Given the description of an element on the screen output the (x, y) to click on. 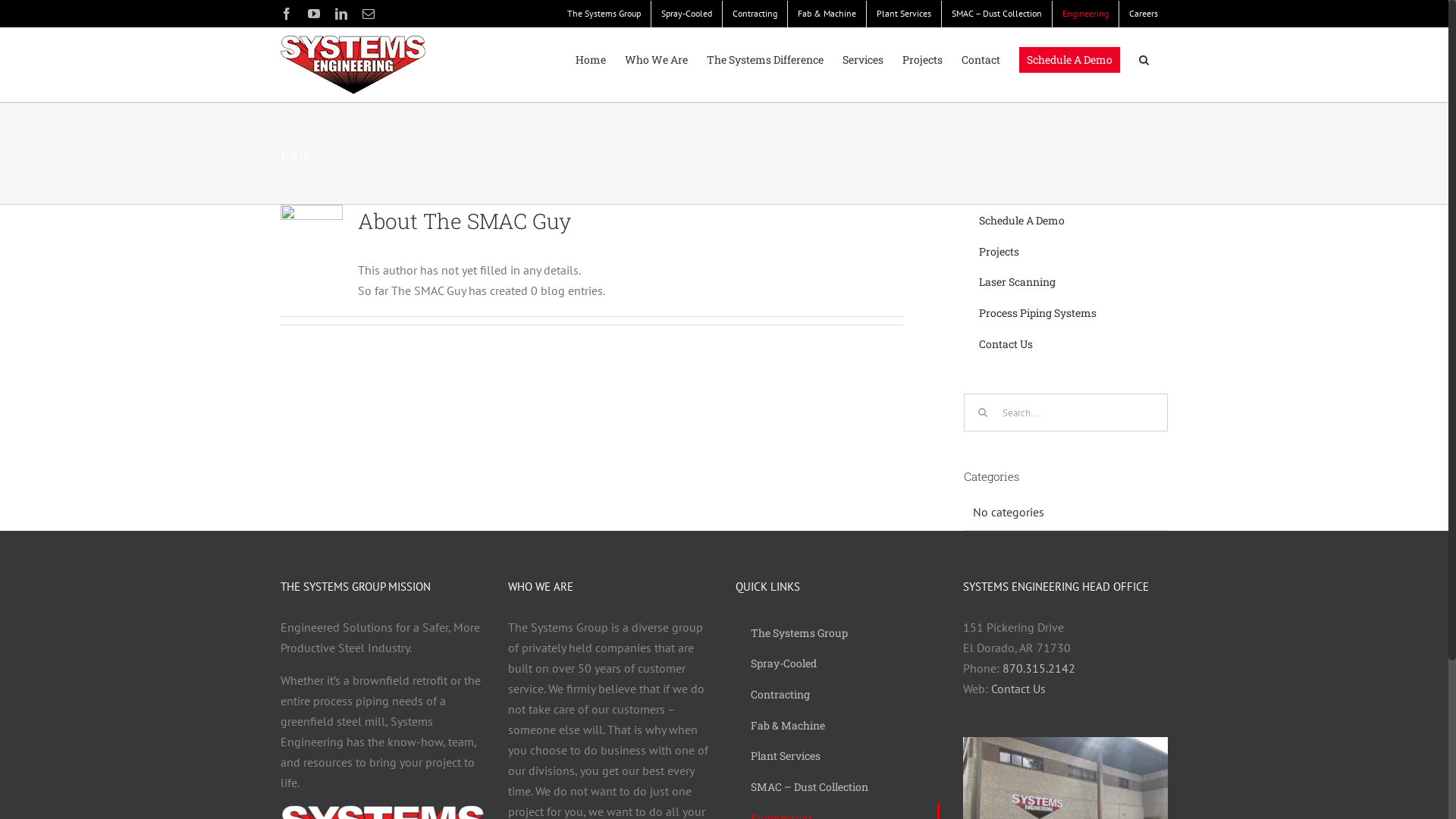
The Systems Difference Element type: text (764, 59)
Projects Element type: text (1065, 251)
Laser Scanning Element type: text (1065, 282)
Contact Us Element type: text (1018, 688)
Plant Services Element type: text (903, 13)
Email Element type: text (368, 13)
LinkedIn Element type: text (341, 13)
Search Element type: hover (1143, 59)
Contact Us Element type: text (1065, 344)
YouTube Element type: text (313, 13)
Services Element type: text (862, 59)
Engineering Element type: text (1085, 13)
Contracting Element type: text (754, 13)
Contact Element type: text (980, 59)
Careers Element type: text (1143, 13)
Schedule A Demo Element type: text (1065, 220)
Process Piping Systems Element type: text (1065, 313)
Facebook Element type: text (286, 13)
Projects Element type: text (922, 59)
Schedule A Demo Element type: text (1069, 59)
Fab & Machine Element type: text (826, 13)
Spray-Cooled Element type: text (686, 13)
Contracting Element type: text (837, 694)
Spray-Cooled Element type: text (837, 663)
The Systems Group Element type: text (603, 13)
Who We Are Element type: text (655, 59)
Fab & Machine Element type: text (837, 725)
The Systems Group Element type: text (837, 633)
870.315.2142 Element type: text (1038, 667)
Plant Services Element type: text (837, 755)
Home Element type: text (590, 59)
